Given the description of an element on the screen output the (x, y) to click on. 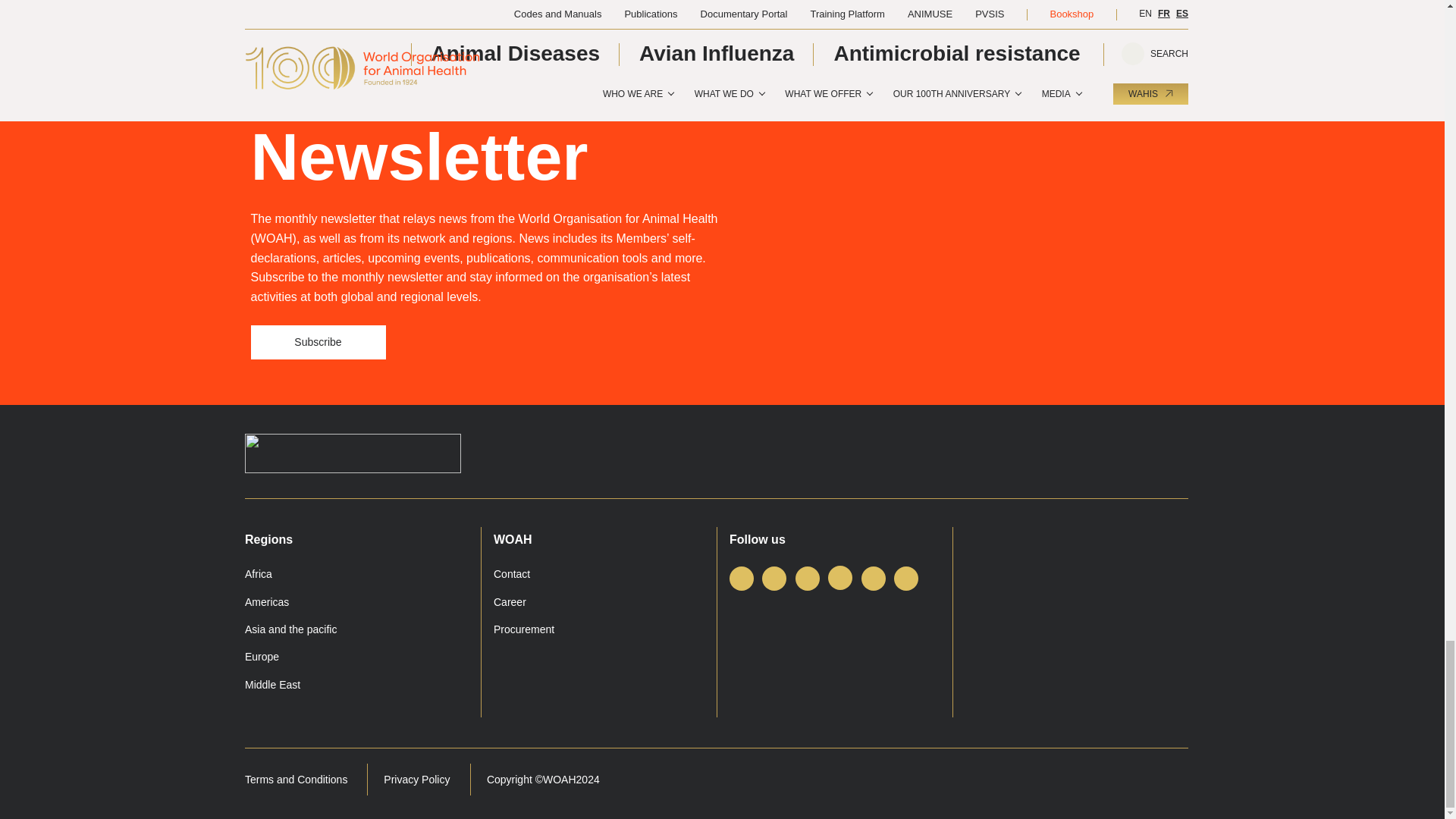
flickr (905, 578)
instagram (839, 577)
twitter (773, 578)
facebook (741, 578)
linkedin (806, 578)
youtube (873, 578)
